Given the description of an element on the screen output the (x, y) to click on. 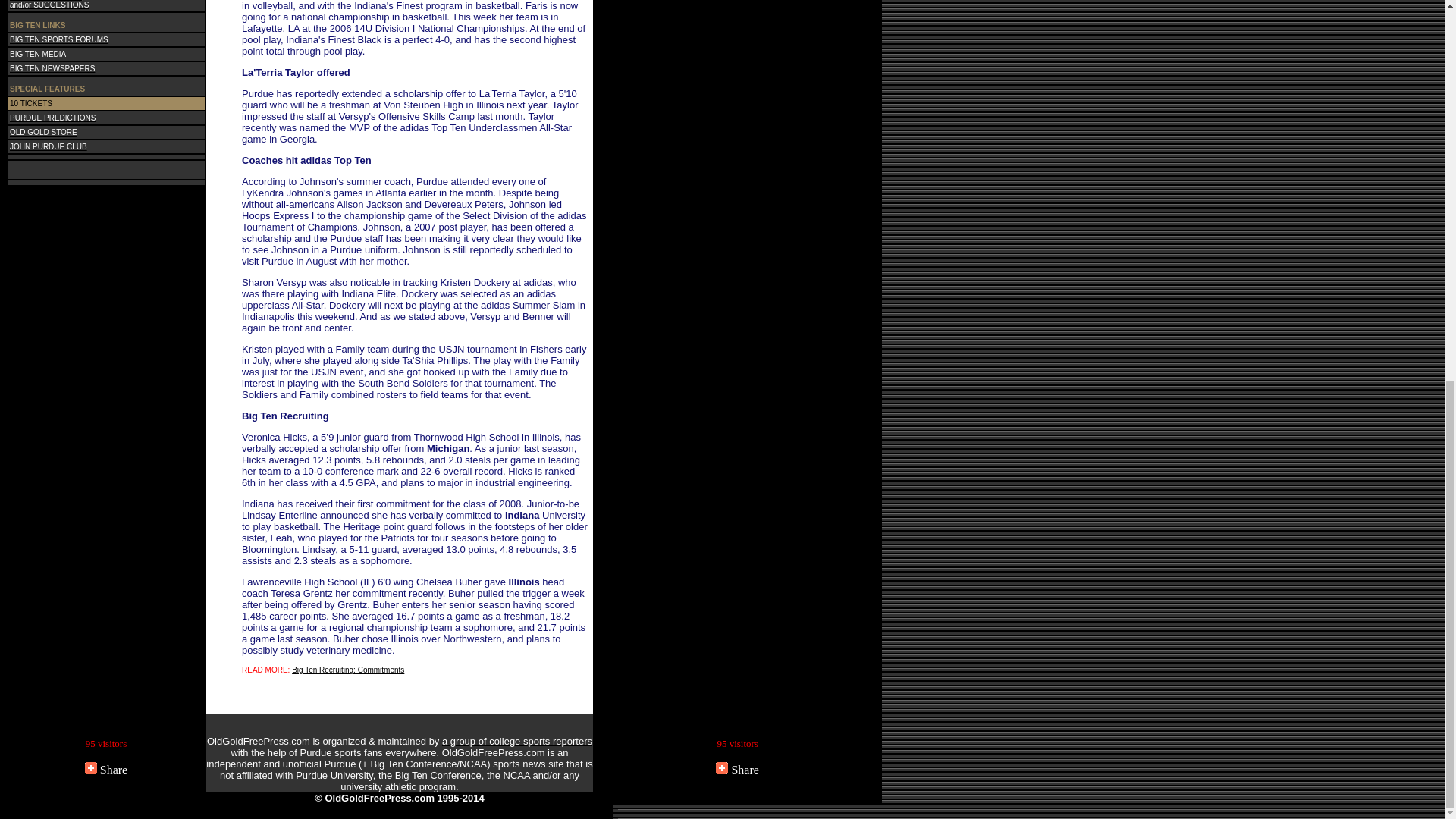
BIG TEN SPORTS FORUMS (58, 38)
BIG TEN MEDIA (37, 51)
BIG TEN NEWSPAPERS (52, 66)
